Given the description of an element on the screen output the (x, y) to click on. 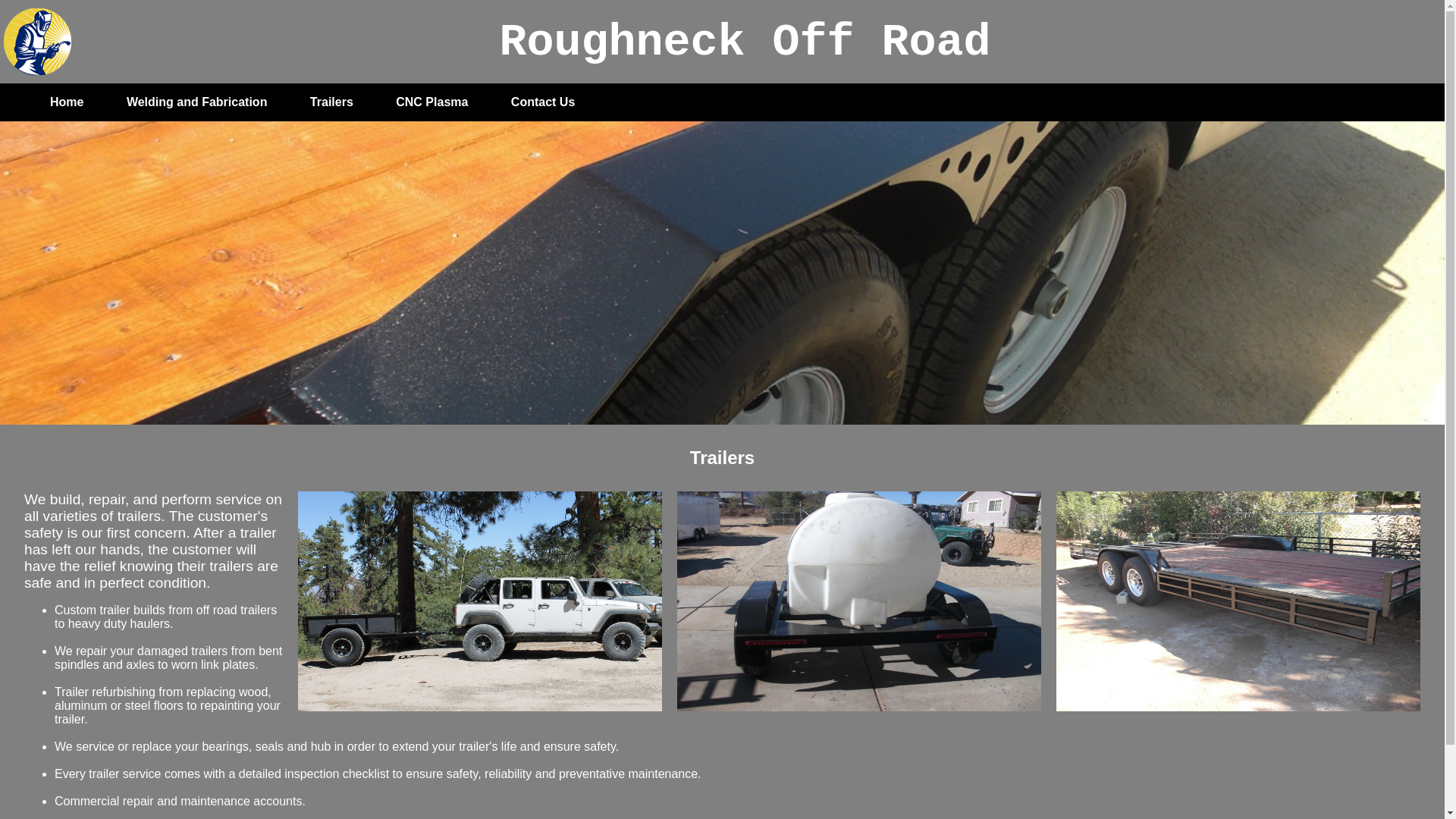
Trailers (331, 101)
CNC Plasma (432, 101)
Contact Us (542, 101)
Home (66, 101)
Welding and Fabrication (197, 101)
